Given the description of an element on the screen output the (x, y) to click on. 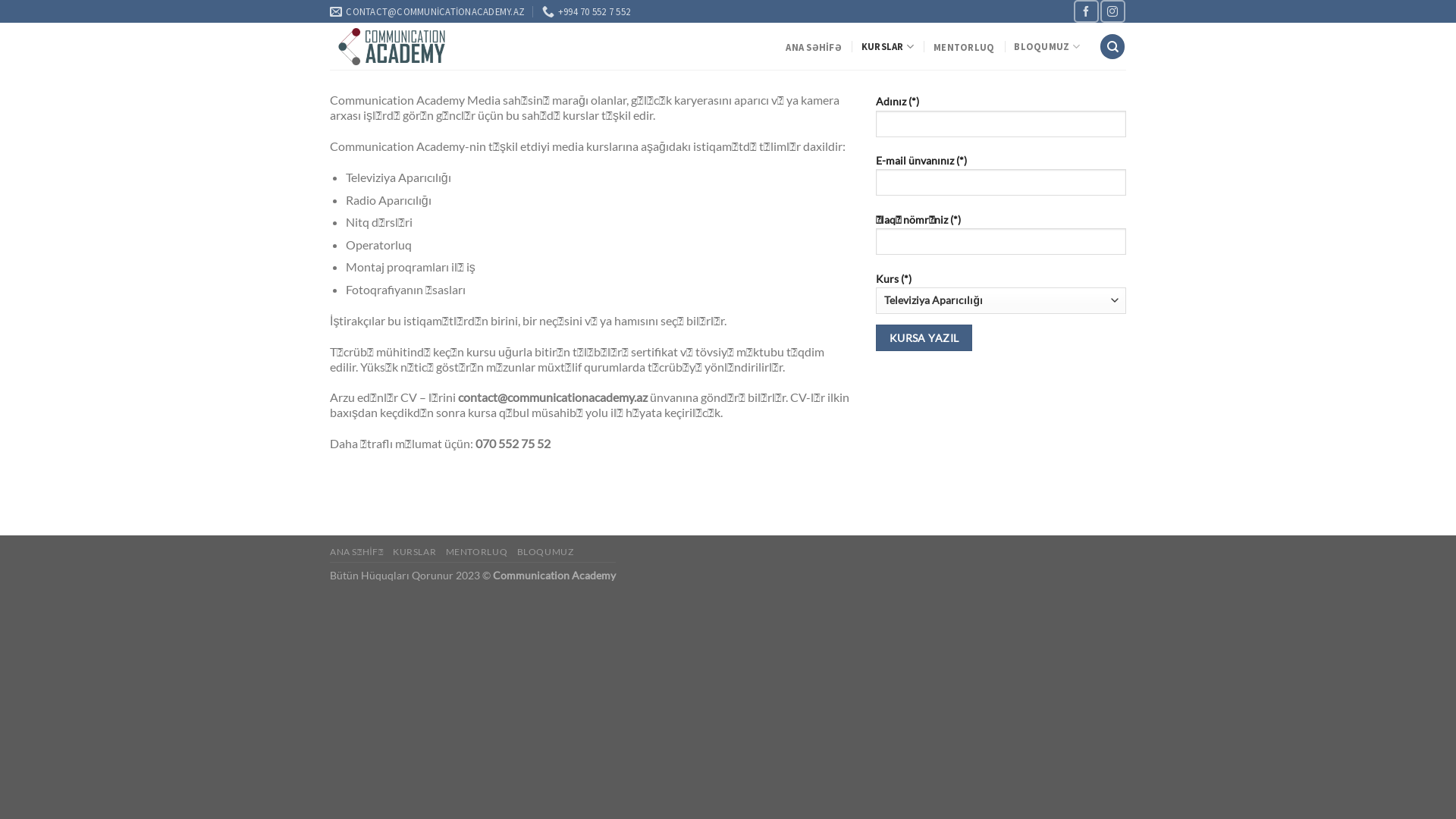
MENTORLUQ Element type: text (963, 46)
+994 70 552 7 552 Element type: text (586, 11)
KURSLAR Element type: text (414, 551)
Communication Academy Element type: hover (392, 46)
BLOQUMUZ Element type: text (545, 551)
KURSLAR Element type: text (887, 46)
BLOQUMUZ Element type: text (1046, 46)
MENTORLUQ Element type: text (476, 551)
CONTACT@COMMUNICATIONACADEMY.AZ Element type: text (426, 11)
